Given the description of an element on the screen output the (x, y) to click on. 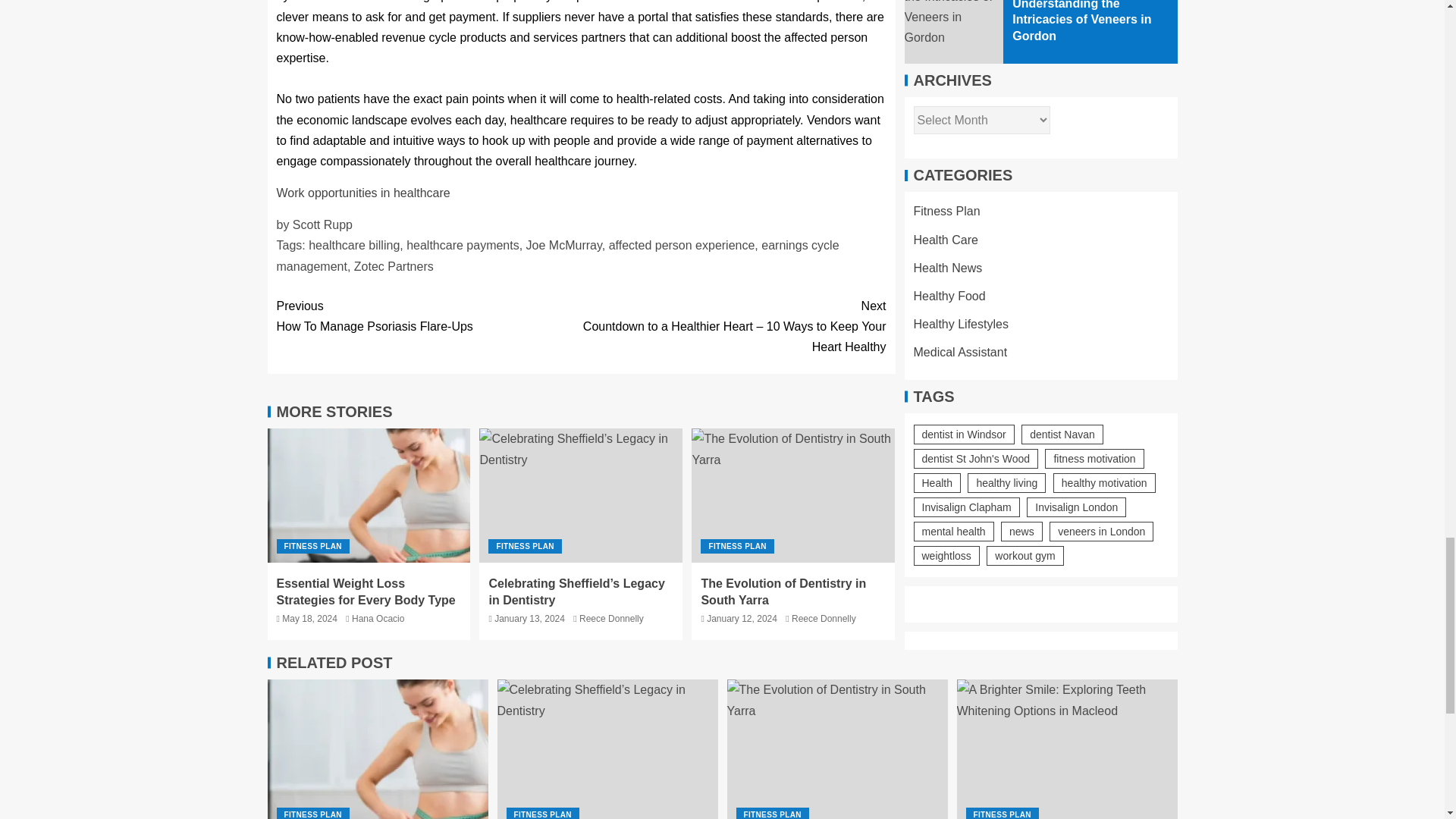
Work opportunities in healthcare (362, 192)
FITNESS PLAN (523, 545)
The Evolution of Dentistry in South Yarra (793, 495)
weight loss strategies (376, 749)
The Evolution of Dentistry in South Yarra (836, 749)
weight loss strategies (428, 315)
Essential Weight Loss Strategies for Every Body Type (368, 495)
FITNESS PLAN (365, 591)
